Given the description of an element on the screen output the (x, y) to click on. 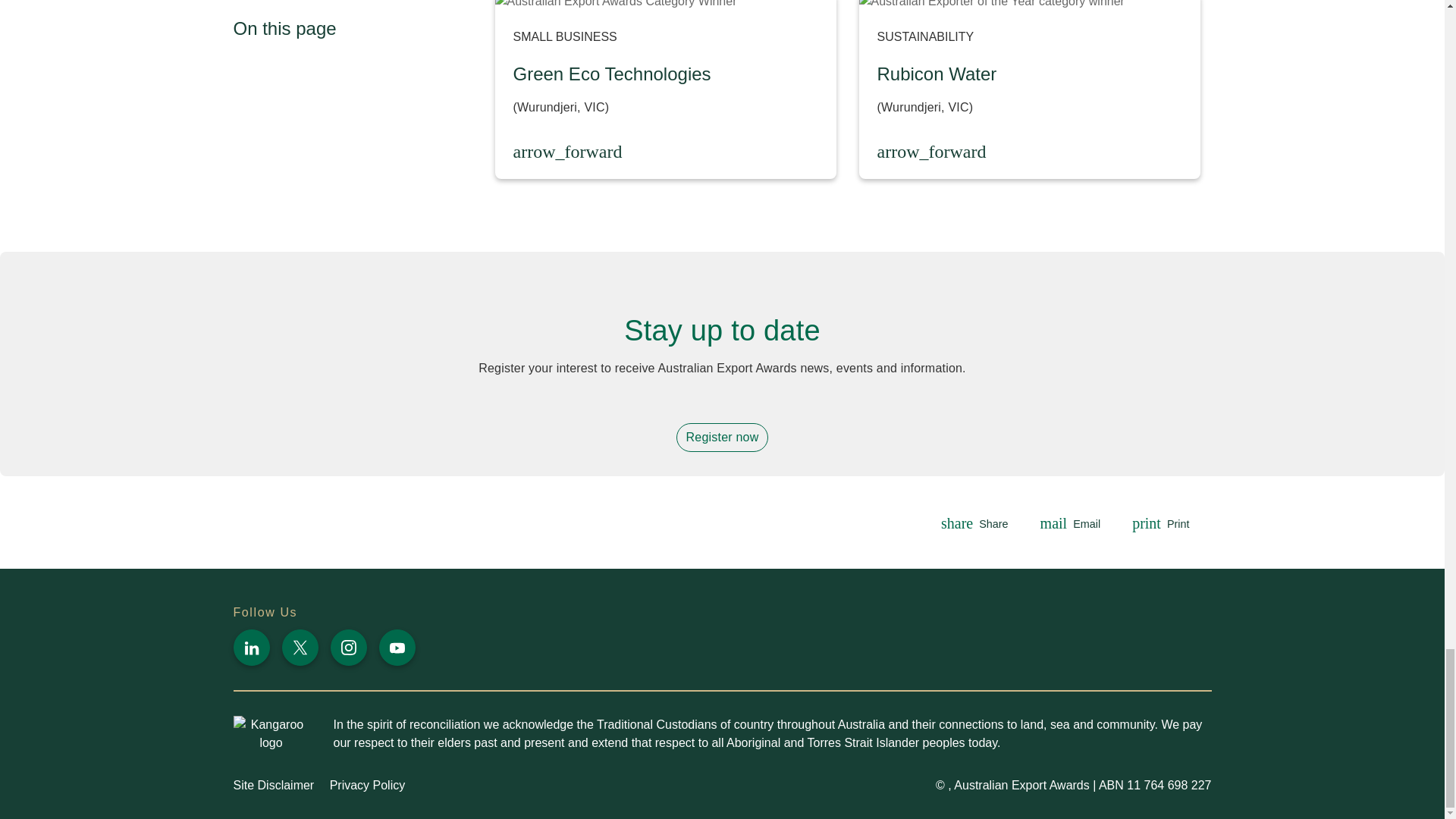
YouTube (396, 647)
Instagram (348, 647)
Twitter (300, 647)
LinkedIn (250, 647)
